Given the description of an element on the screen output the (x, y) to click on. 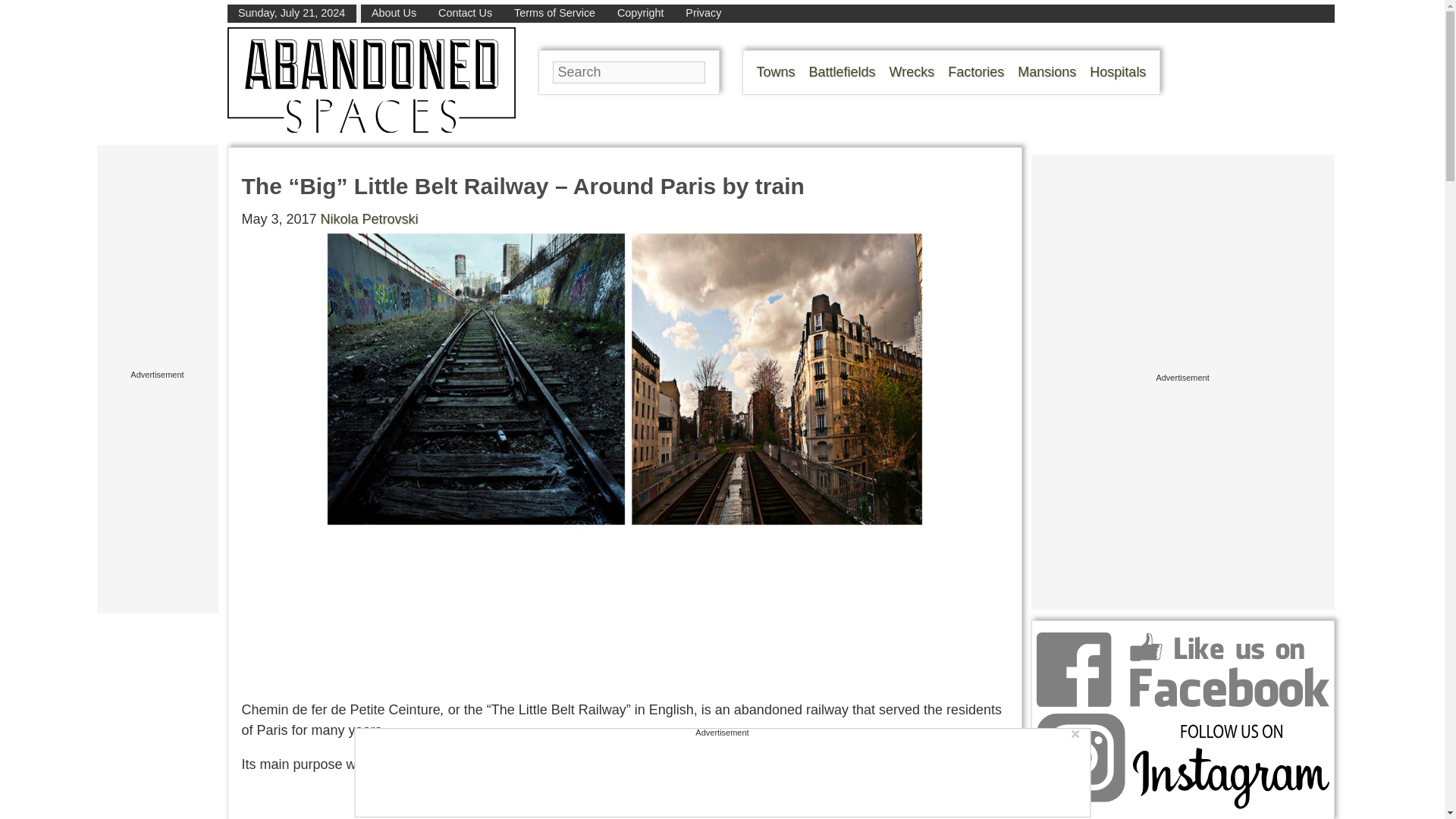
Contact Us (465, 12)
Copyright (640, 12)
About Us (393, 12)
Wrecks (911, 71)
Terms of Service (554, 12)
Hospitals (1117, 71)
Towns (775, 71)
Nikola Petrovski (369, 218)
Privacy (702, 12)
Mansions (1046, 71)
Battlefields (842, 71)
Factories (975, 71)
